Given the description of an element on the screen output the (x, y) to click on. 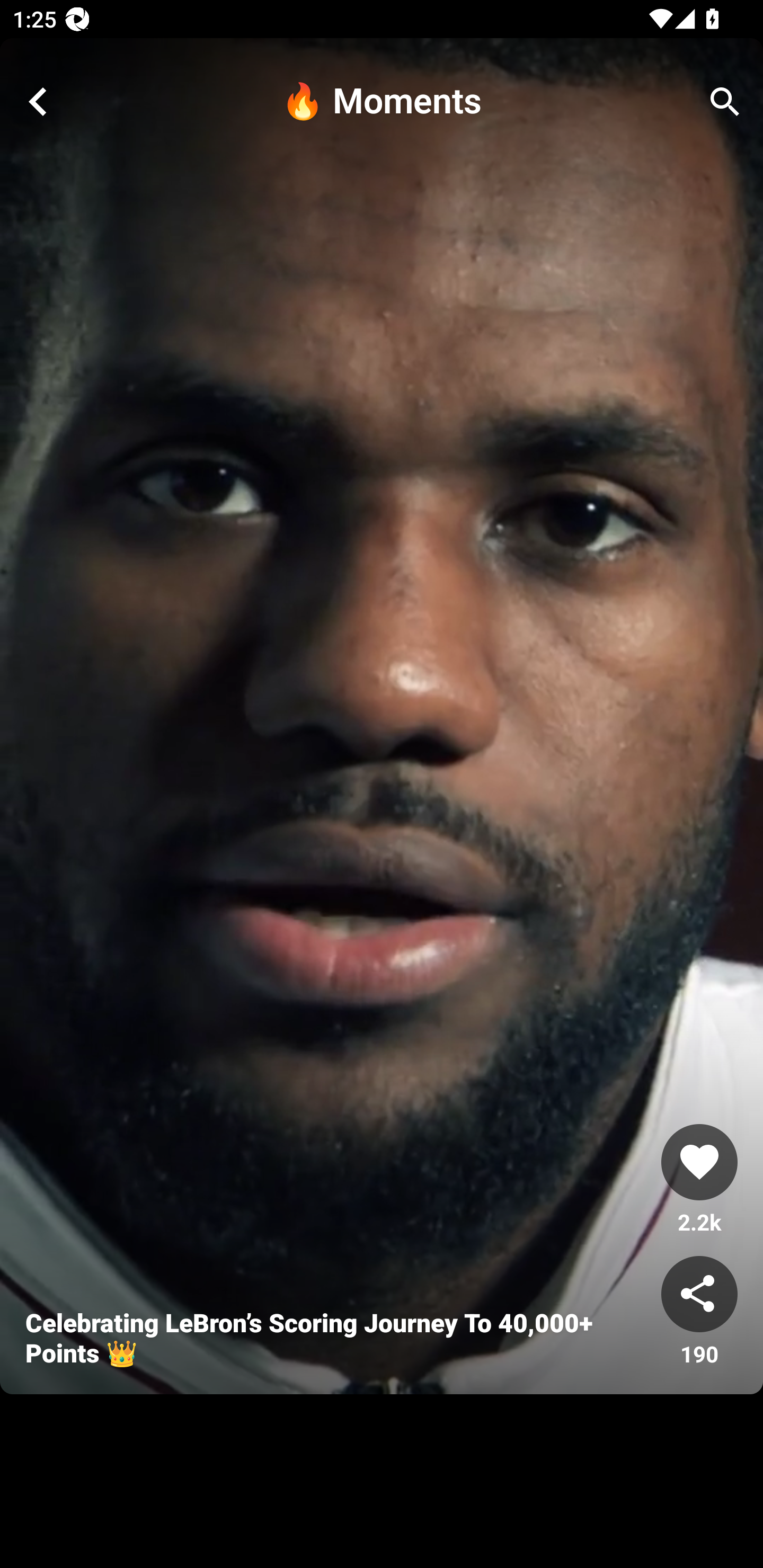
close (38, 101)
search (724, 101)
like 2.2k 2188 Likes (699, 1180)
share 190 190 Shares (699, 1311)
